Given the description of an element on the screen output the (x, y) to click on. 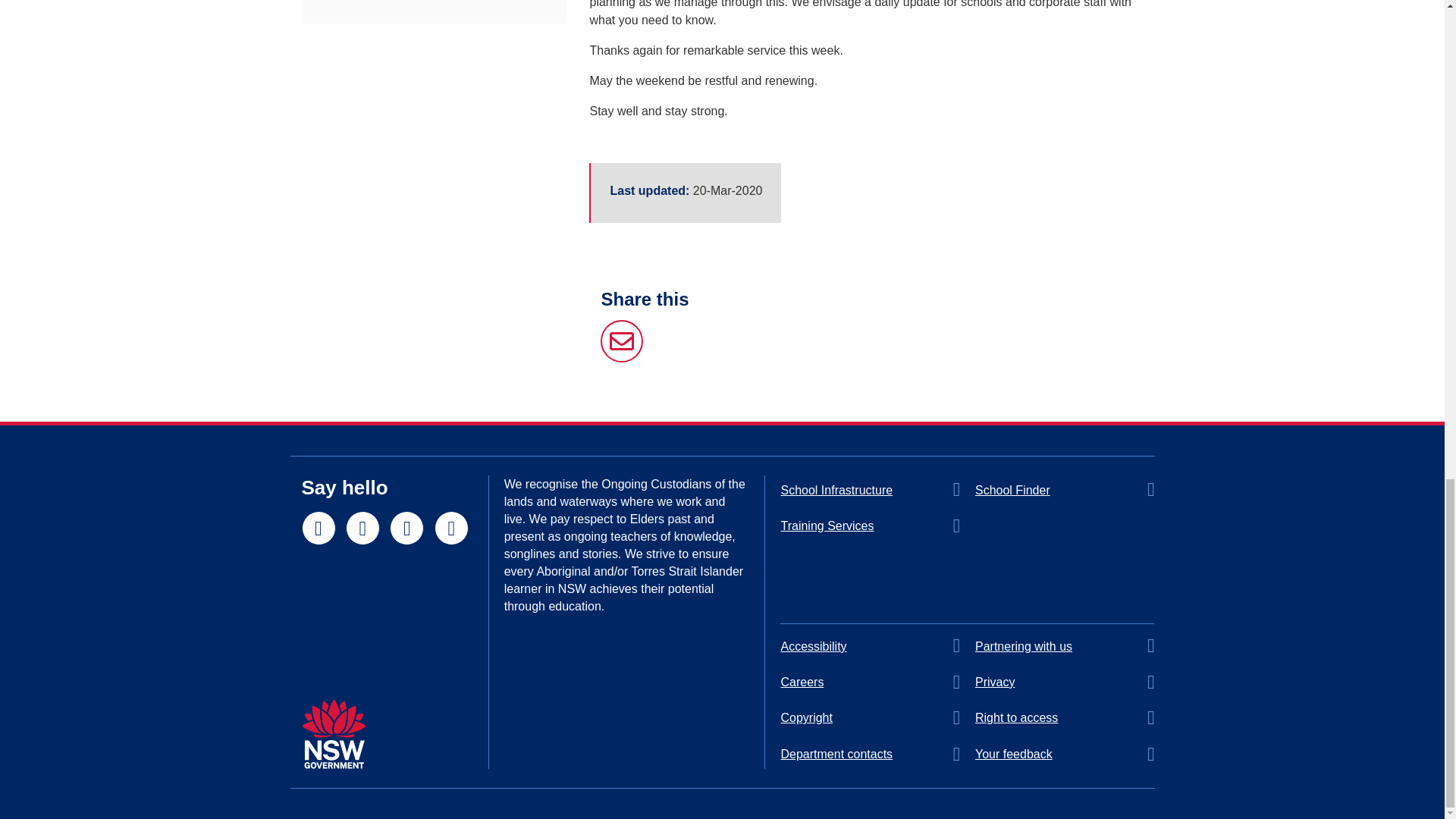
NSW Government (333, 734)
